Given the description of an element on the screen output the (x, y) to click on. 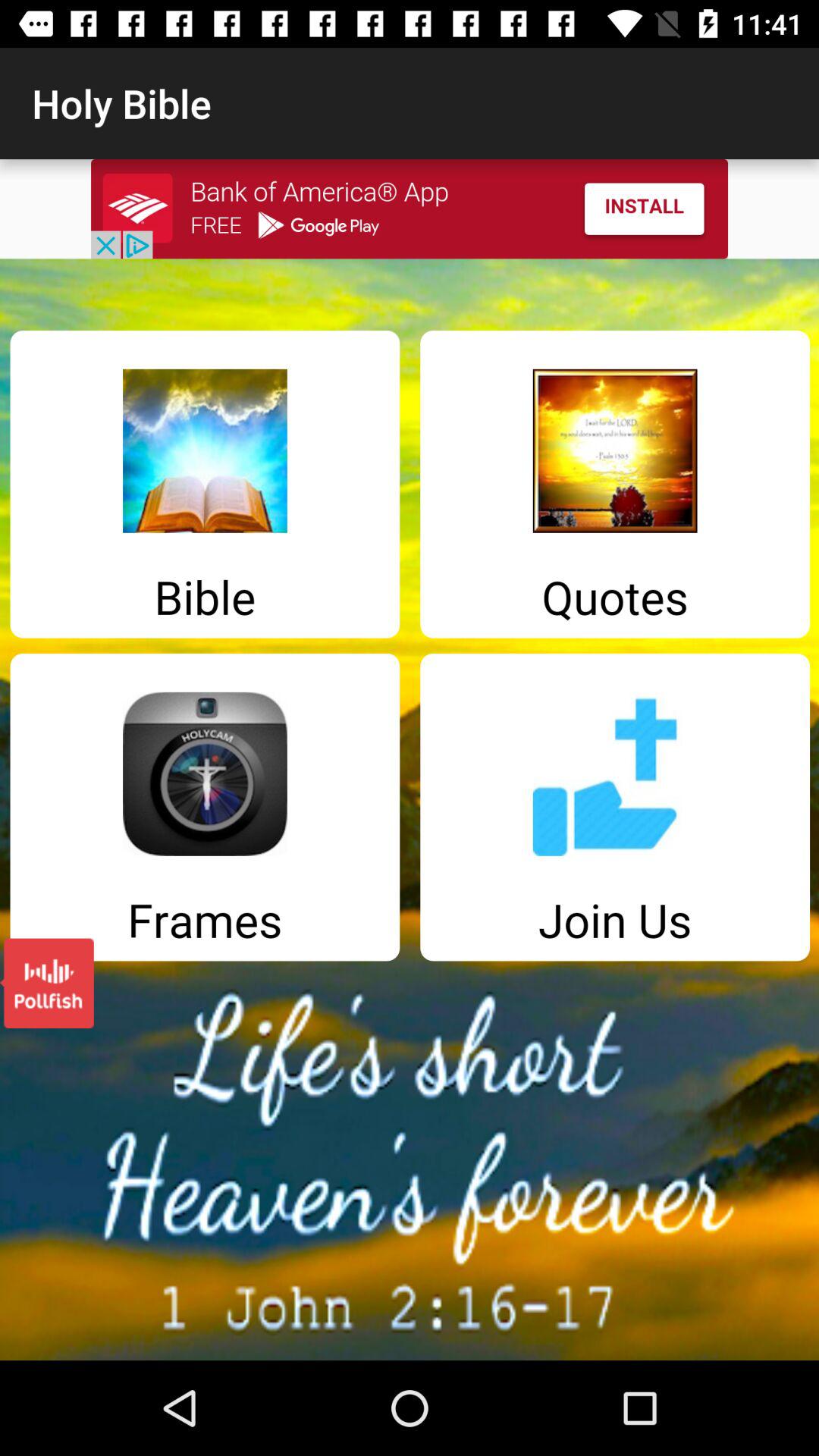
install app (409, 208)
